Given the description of an element on the screen output the (x, y) to click on. 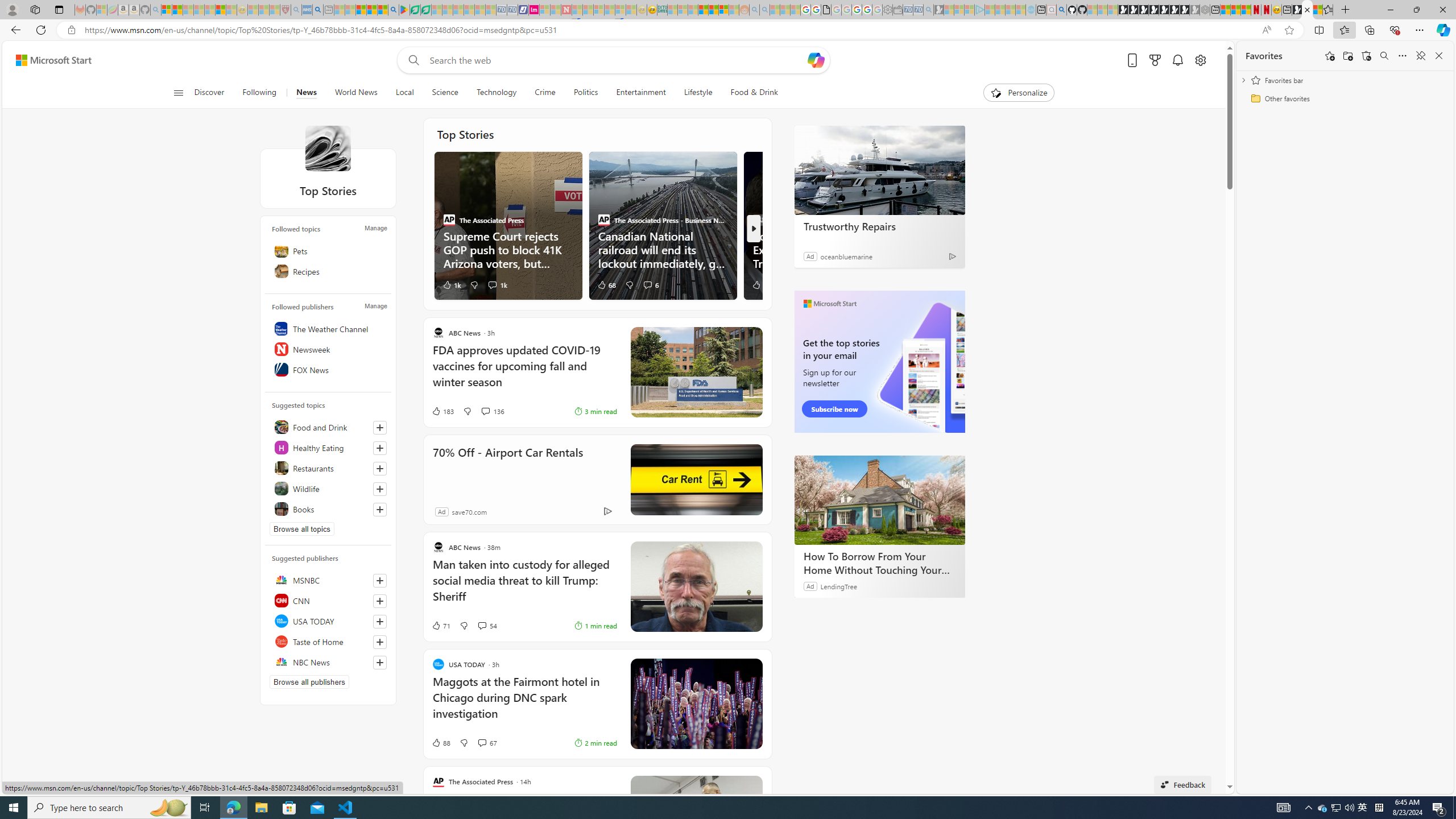
1k Like (450, 284)
